Given the description of an element on the screen output the (x, y) to click on. 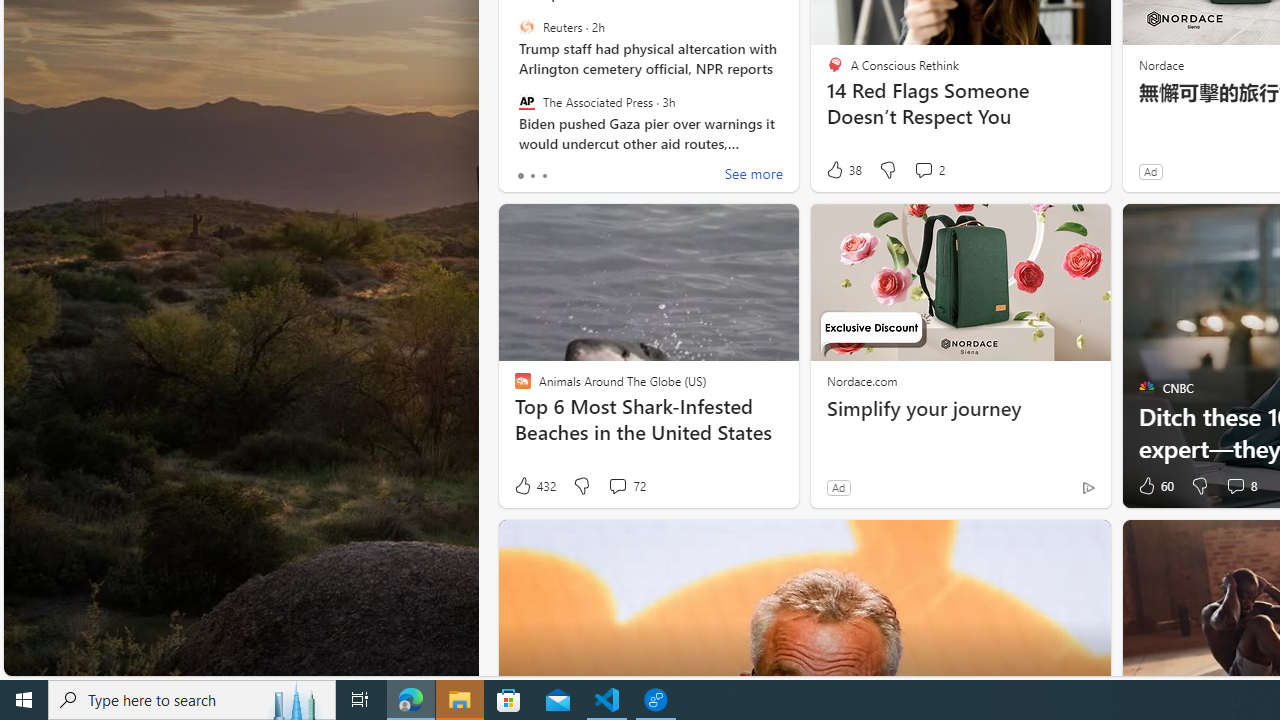
View comments 2 Comment (923, 169)
Simplify your journey (959, 408)
View comments 8 Comment (1234, 485)
Ad Choice (1087, 487)
432 Like (534, 485)
38 Like (843, 170)
View comments 72 Comment (626, 485)
60 Like (1154, 485)
View comments 72 Comment (617, 485)
See more (753, 175)
Nordace.com (861, 380)
Reuters (526, 27)
View comments 2 Comment (928, 170)
